Given the description of an element on the screen output the (x, y) to click on. 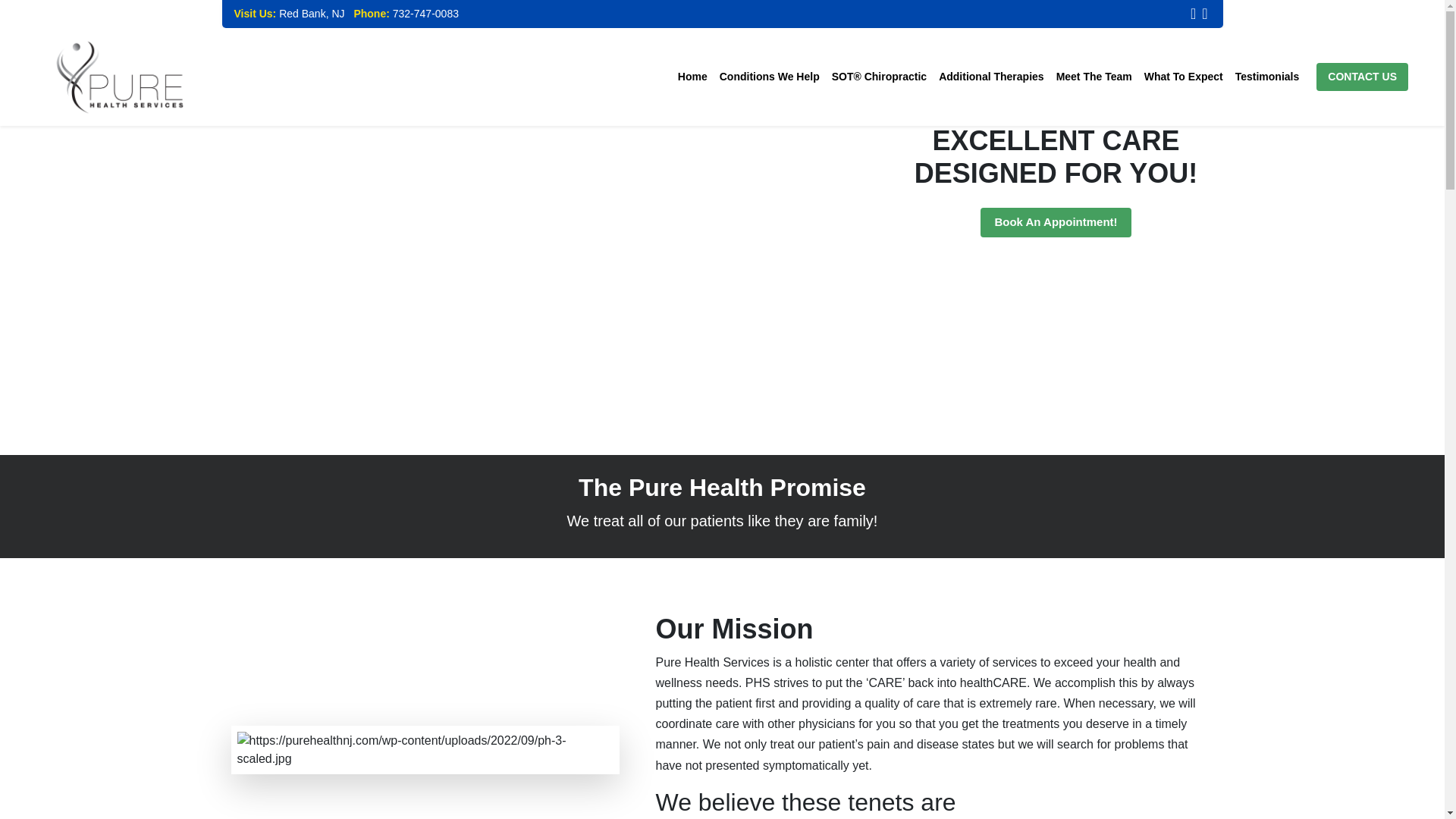
Visit Us: Red Bank, NJ (287, 13)
Phone: 732-747-0083 (402, 13)
Testimonials (1267, 76)
Conditions We Help (769, 76)
Additional Therapies (991, 76)
CONTACT US (1361, 76)
Book An Appointment! (1055, 222)
Home (692, 76)
Meet The Team (1093, 76)
What To Expect (1183, 76)
